Given the description of an element on the screen output the (x, y) to click on. 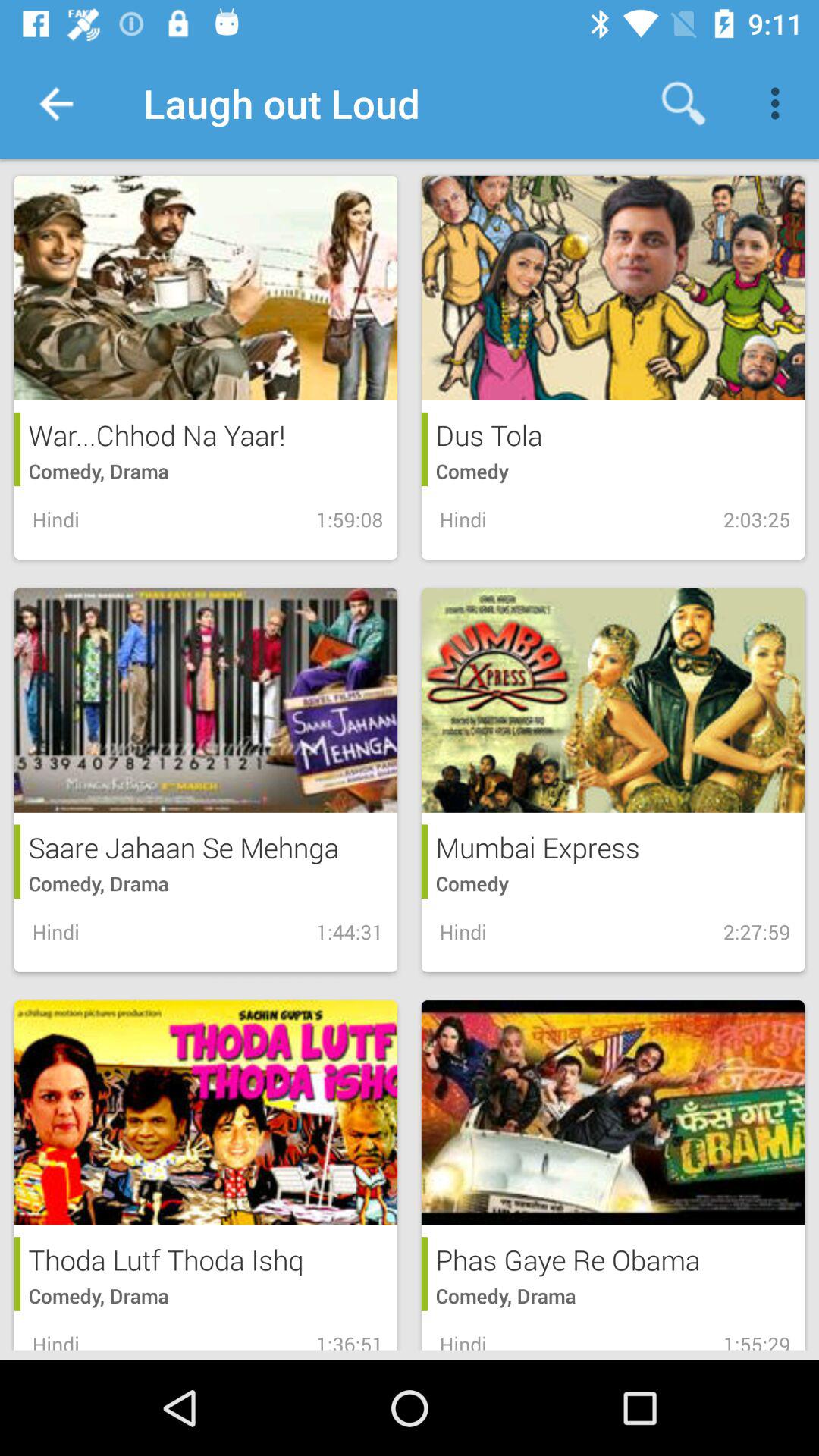
launch the item next to laugh out loud  icon (683, 103)
